Given the description of an element on the screen output the (x, y) to click on. 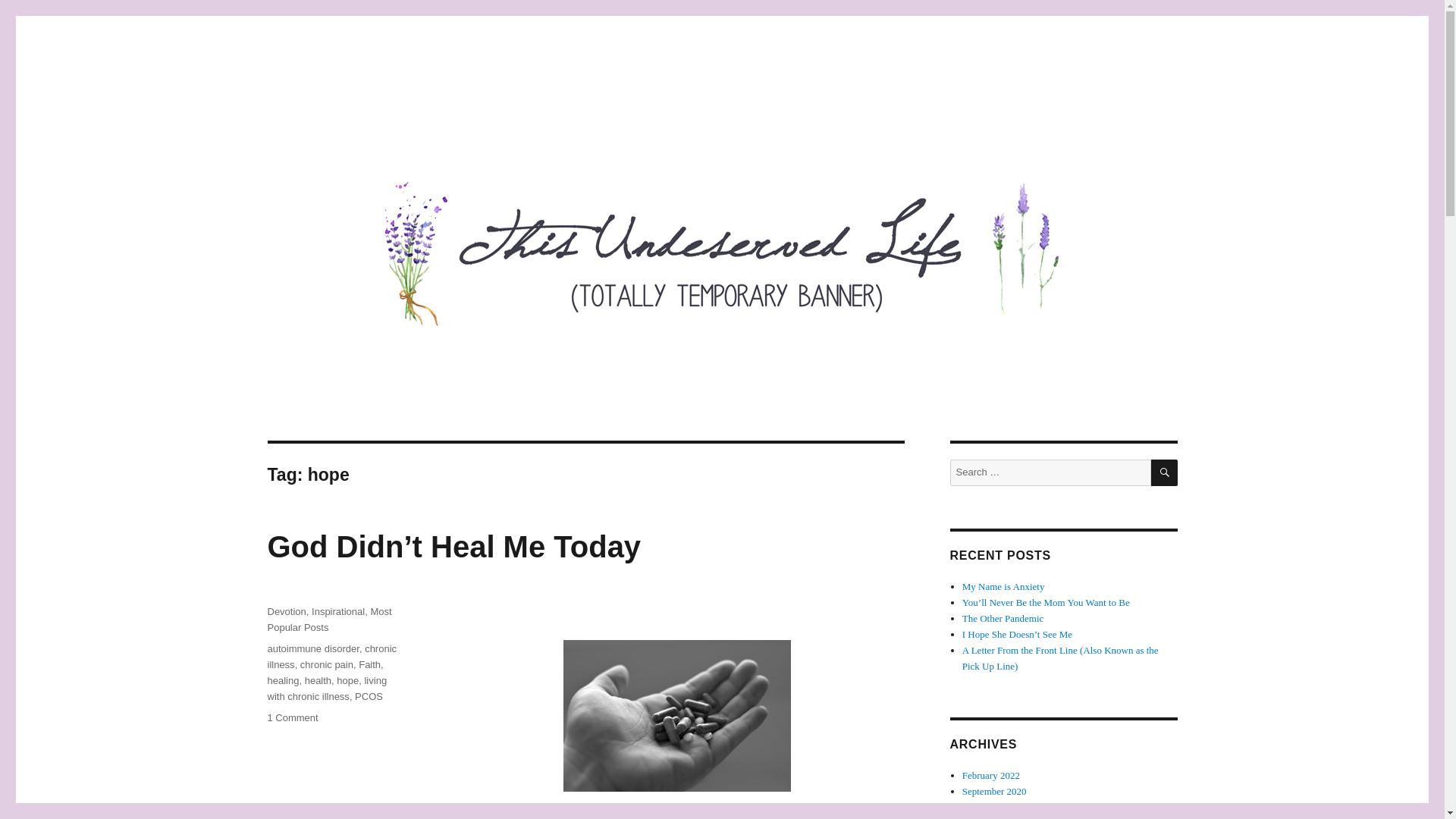
October 2019 (989, 818)
My Name is Anxiety (1003, 586)
living with chronic illness (326, 687)
April 2020 (984, 807)
Faith (369, 664)
health (317, 680)
The Other Pandemic (1002, 618)
PCOS (368, 696)
SEARCH (1164, 472)
hope (347, 680)
